Given the description of an element on the screen output the (x, y) to click on. 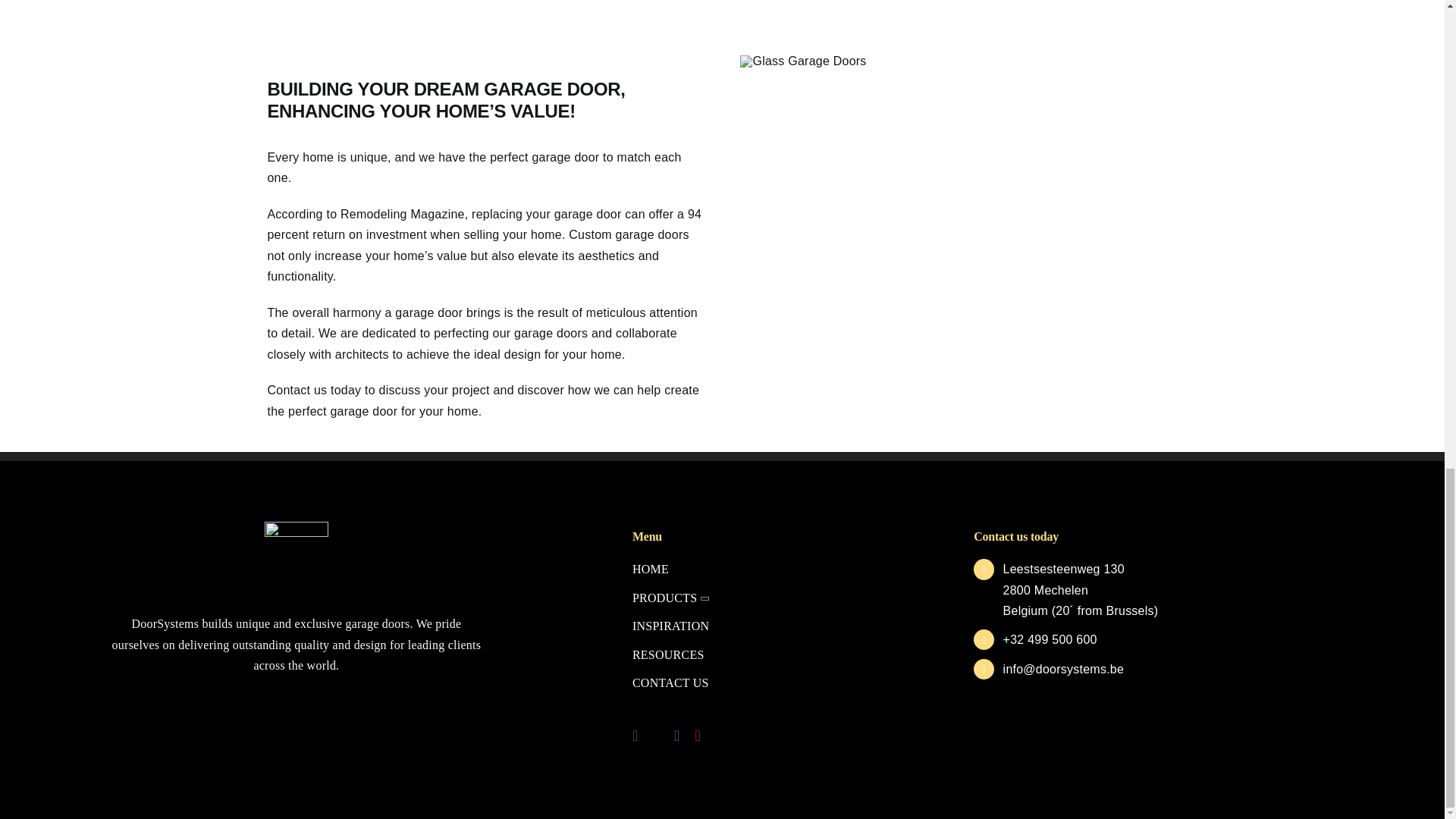
HOME (766, 568)
CONTACT US (766, 682)
RESOURCES (766, 654)
INSPIRATION (766, 626)
Logo-transparency-1-e1660735681859 (296, 555)
PRODUCTS (766, 598)
Glass Garage Doors (802, 61)
